Given the description of an element on the screen output the (x, y) to click on. 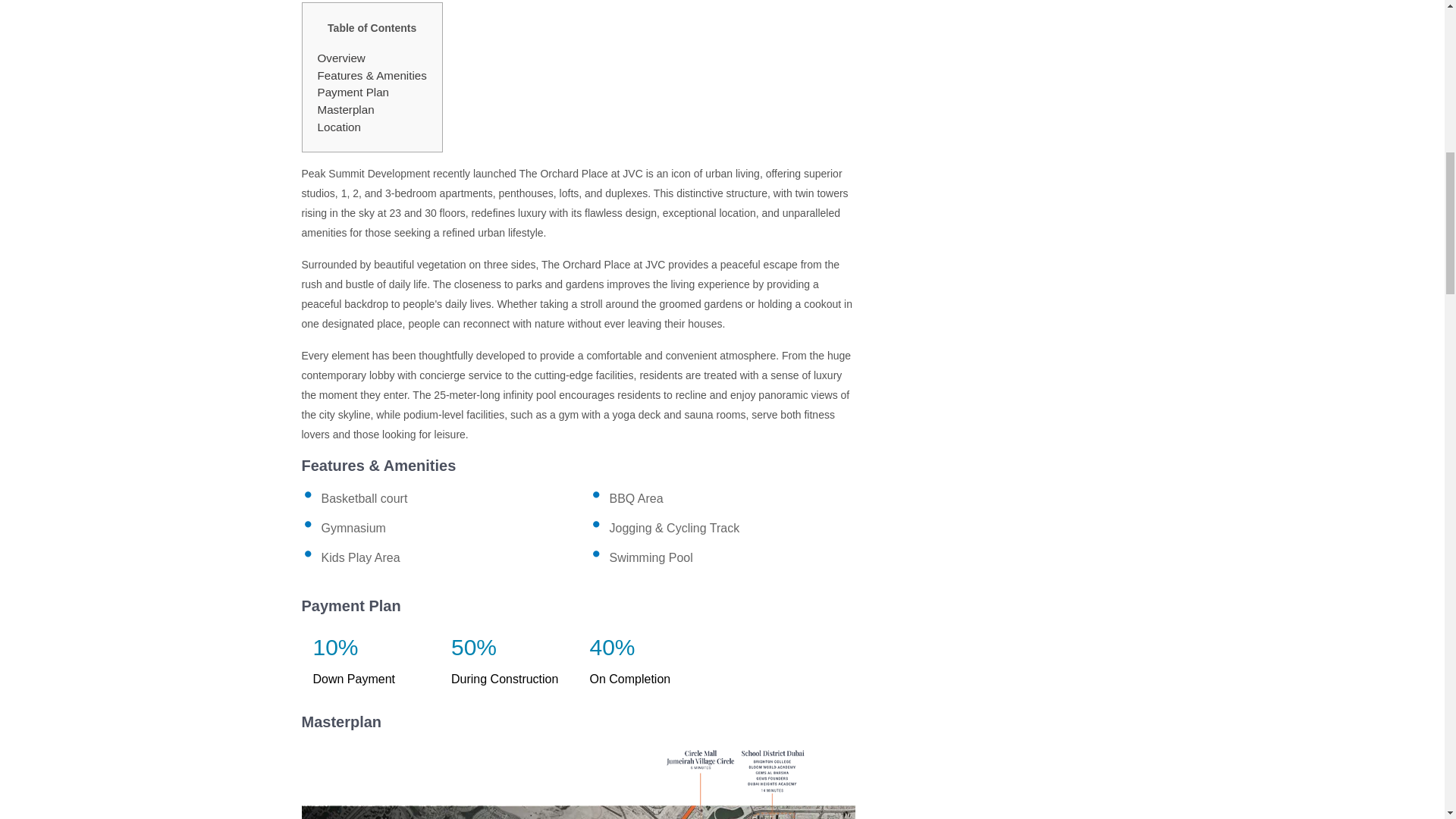
Masterplan (345, 109)
The Orchard Place Master Plan (578, 782)
Overview (341, 57)
Location (338, 126)
Payment Plan (352, 91)
